Given the description of an element on the screen output the (x, y) to click on. 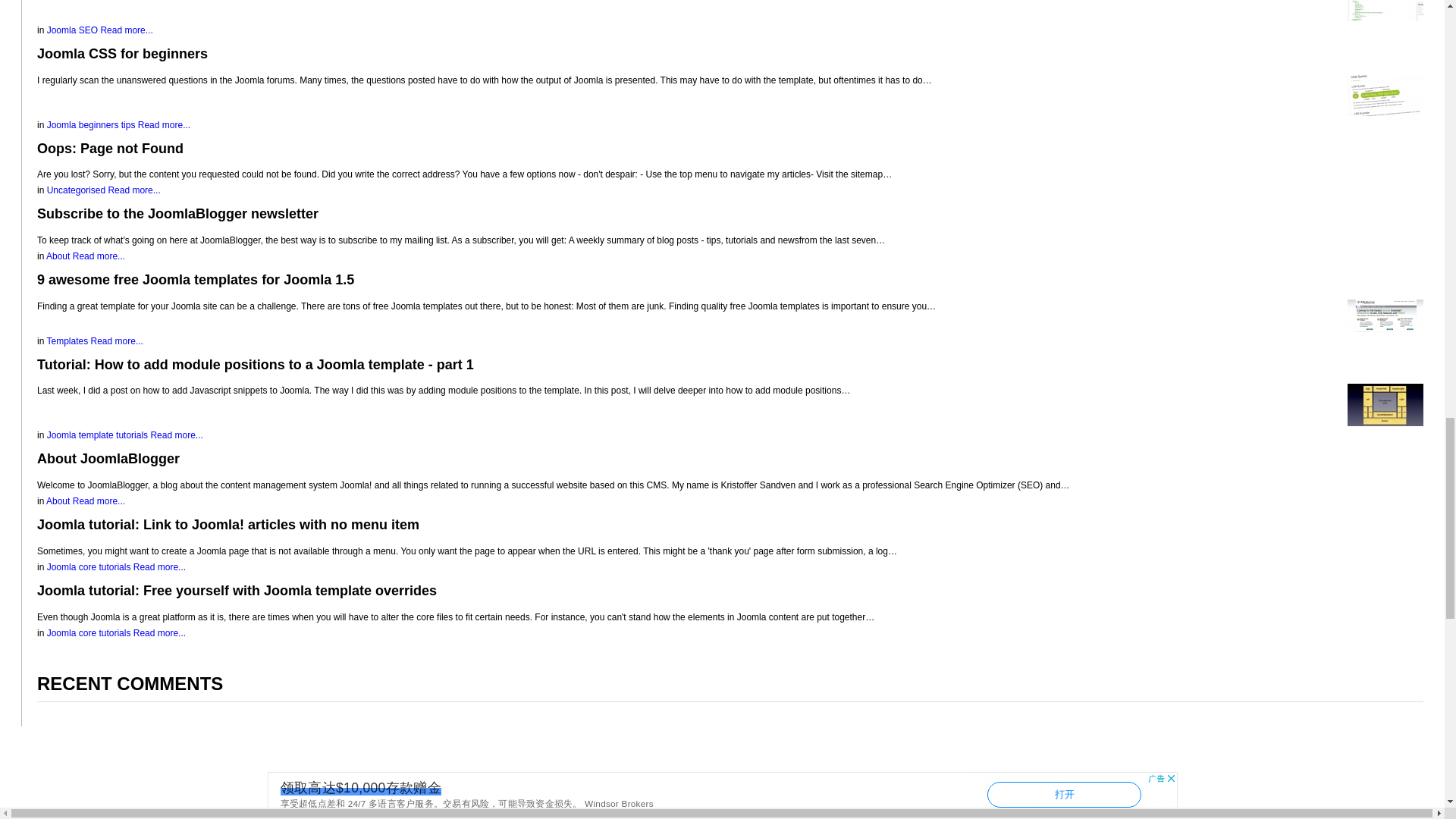
Advertisement (721, 794)
Continue reading "Joomla CSS for beginners" (1385, 94)
